Given the description of an element on the screen output the (x, y) to click on. 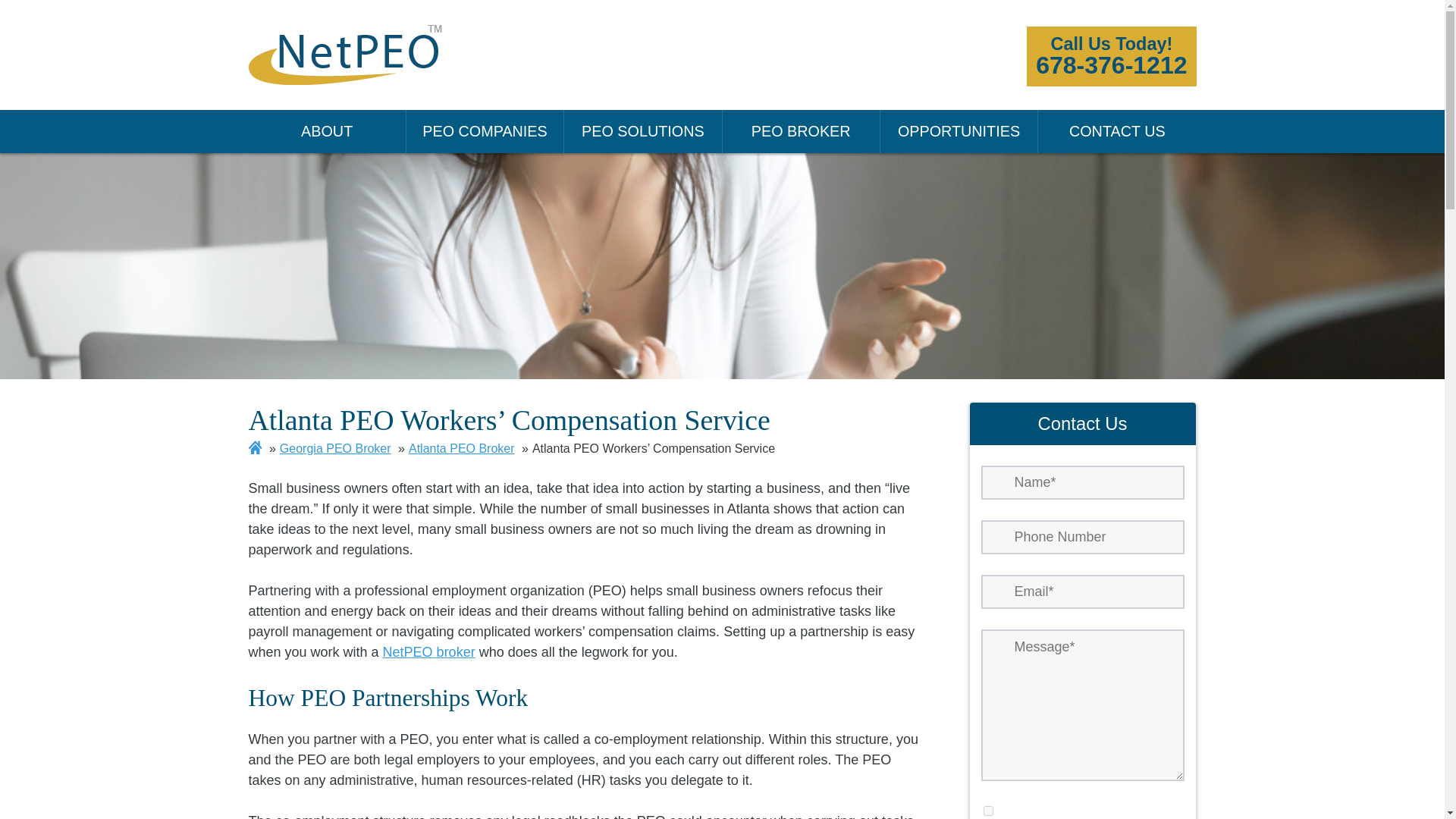
PEO COMPANIES (485, 131)
PEO BROKER (1110, 56)
PEO SOLUTIONS (800, 131)
ABOUT (643, 131)
1 (327, 131)
